Given the description of an element on the screen output the (x, y) to click on. 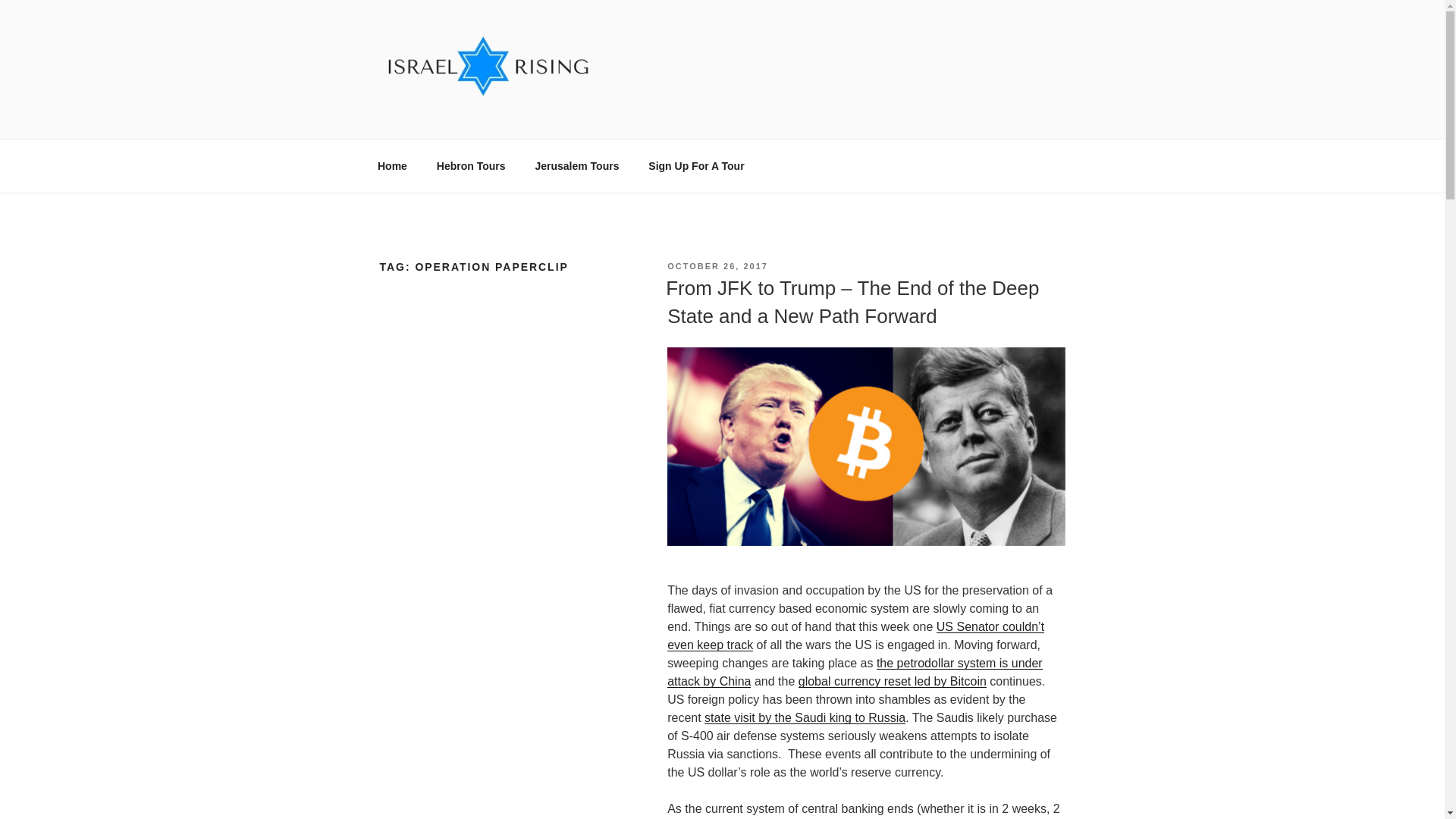
Home (392, 165)
Jerusalem Tours (576, 165)
state visit by the Saudi king to Russia (804, 717)
global currency reset led by Bitcoin (892, 680)
ISRAEL RISING (493, 119)
Hebron Tours (470, 165)
OCTOBER 26, 2017 (717, 266)
the petrodollar system is under attack by China (854, 671)
Sign Up For A Tour (695, 165)
